Given the description of an element on the screen output the (x, y) to click on. 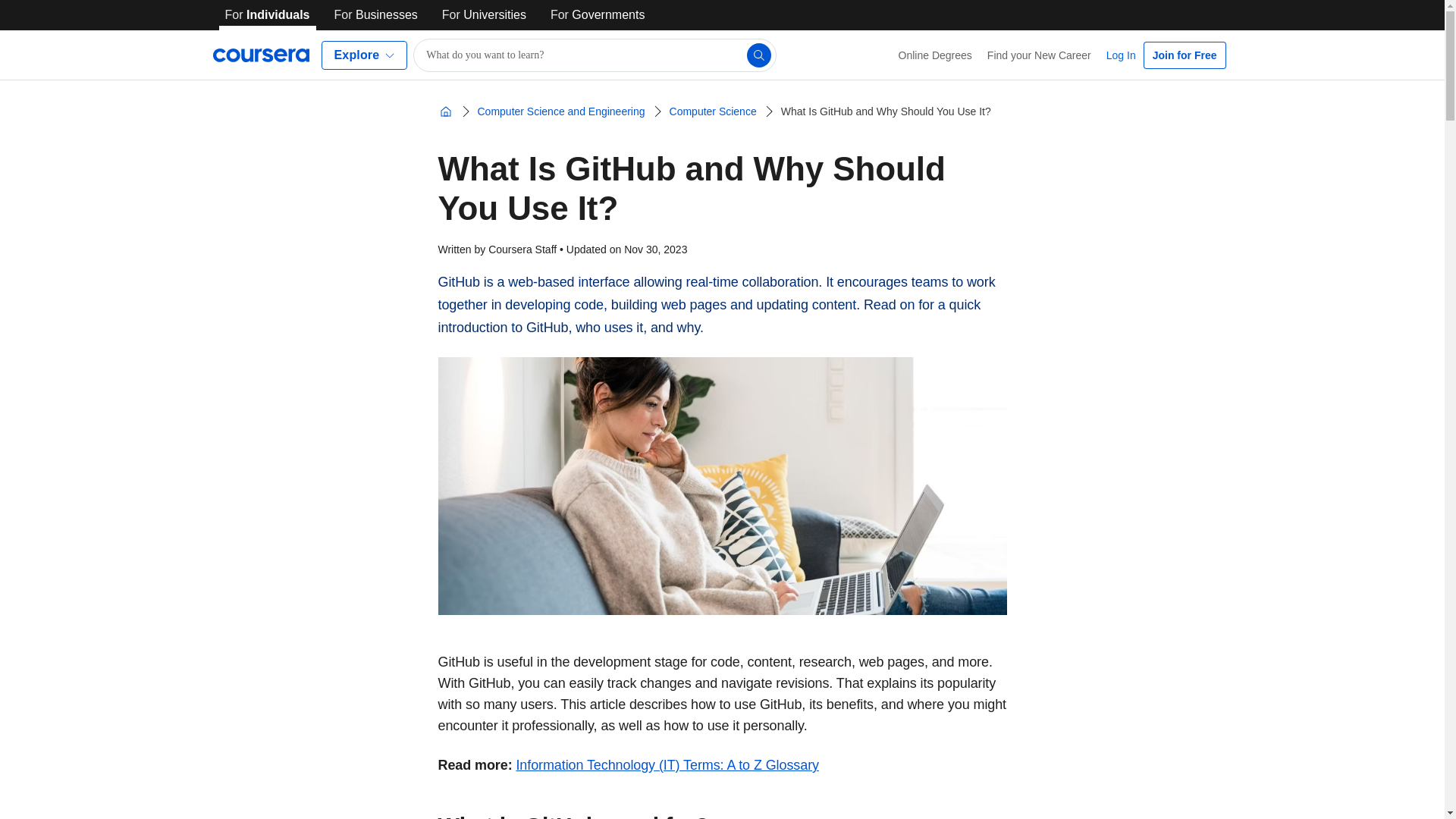
For Individuals (266, 15)
For Businesses (376, 15)
Computer Science (712, 111)
For Universities (483, 15)
Log In (1120, 54)
Explore (364, 54)
Join for Free (1183, 53)
Online Degrees (935, 54)
For Governments (597, 15)
What Is GitHub and Why Should You Use It? (885, 111)
Computer Science and Engineering (560, 111)
Find your New Career (1039, 54)
